Given the description of an element on the screen output the (x, y) to click on. 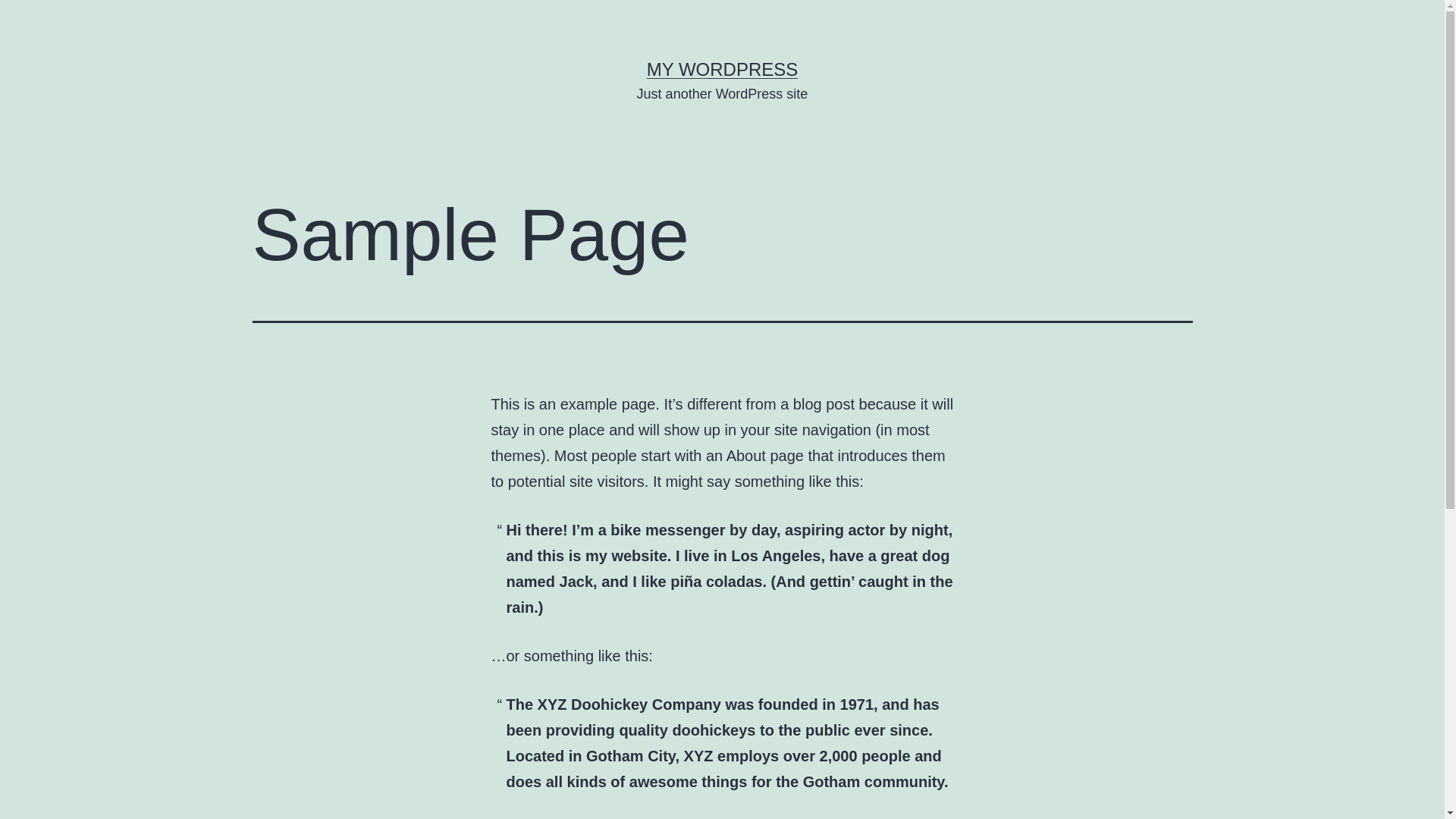
MY WORDPRESS Element type: text (722, 69)
